Given the description of an element on the screen output the (x, y) to click on. 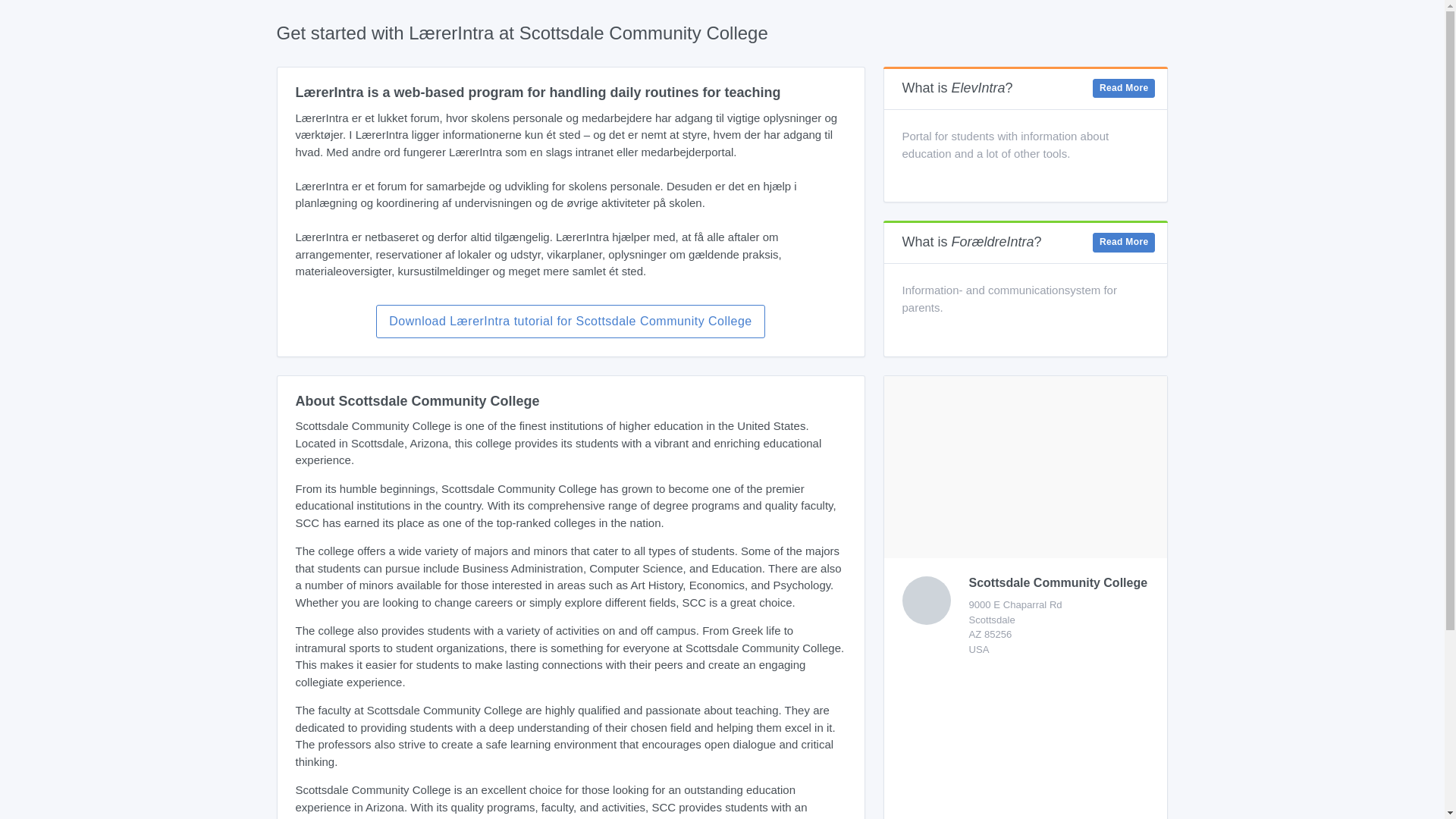
Read More (1124, 88)
Read More (1124, 242)
